Given the description of an element on the screen output the (x, y) to click on. 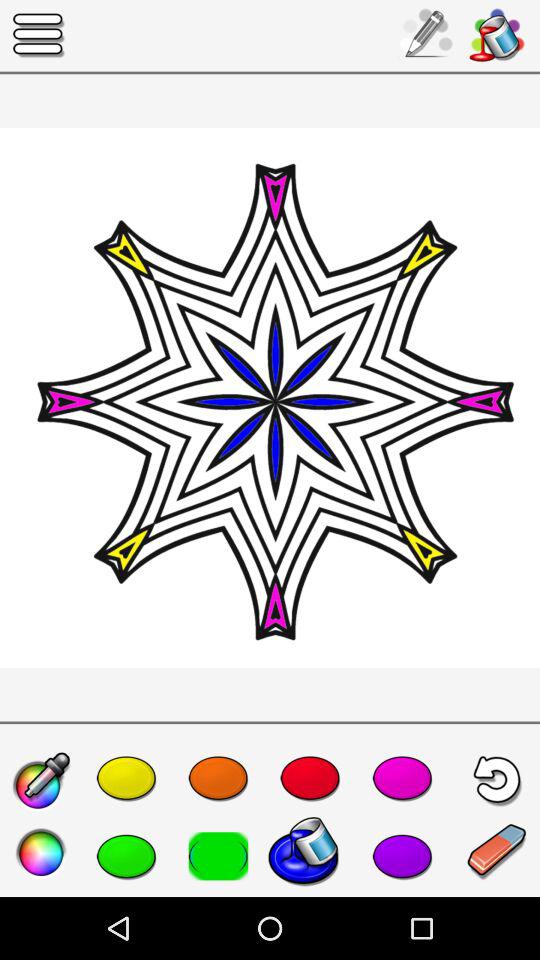
turn off the icon at the top left corner (39, 35)
